Given the description of an element on the screen output the (x, y) to click on. 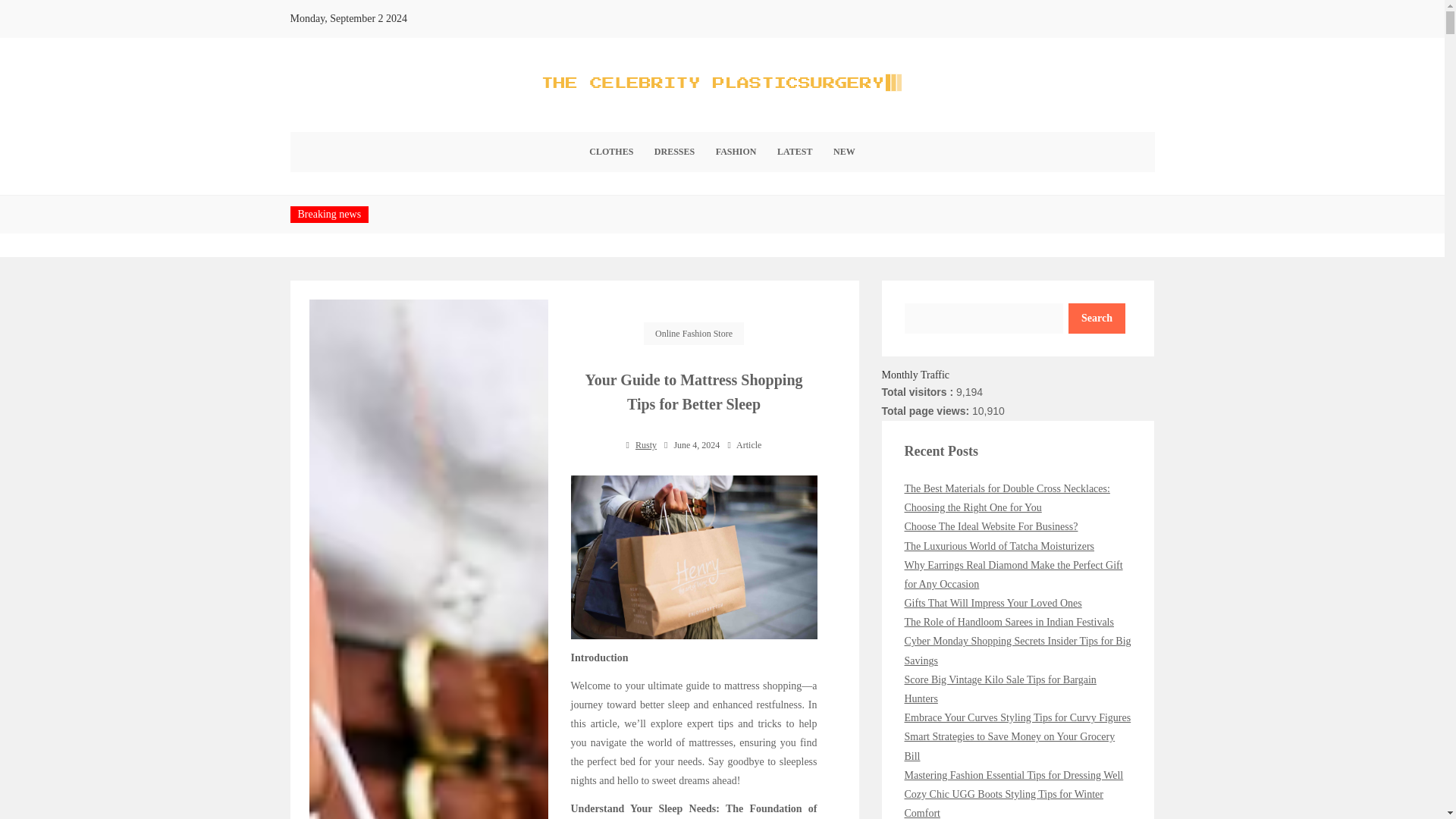
Search (1096, 318)
CLOTHES (610, 151)
DRESSES (674, 151)
